Given the description of an element on the screen output the (x, y) to click on. 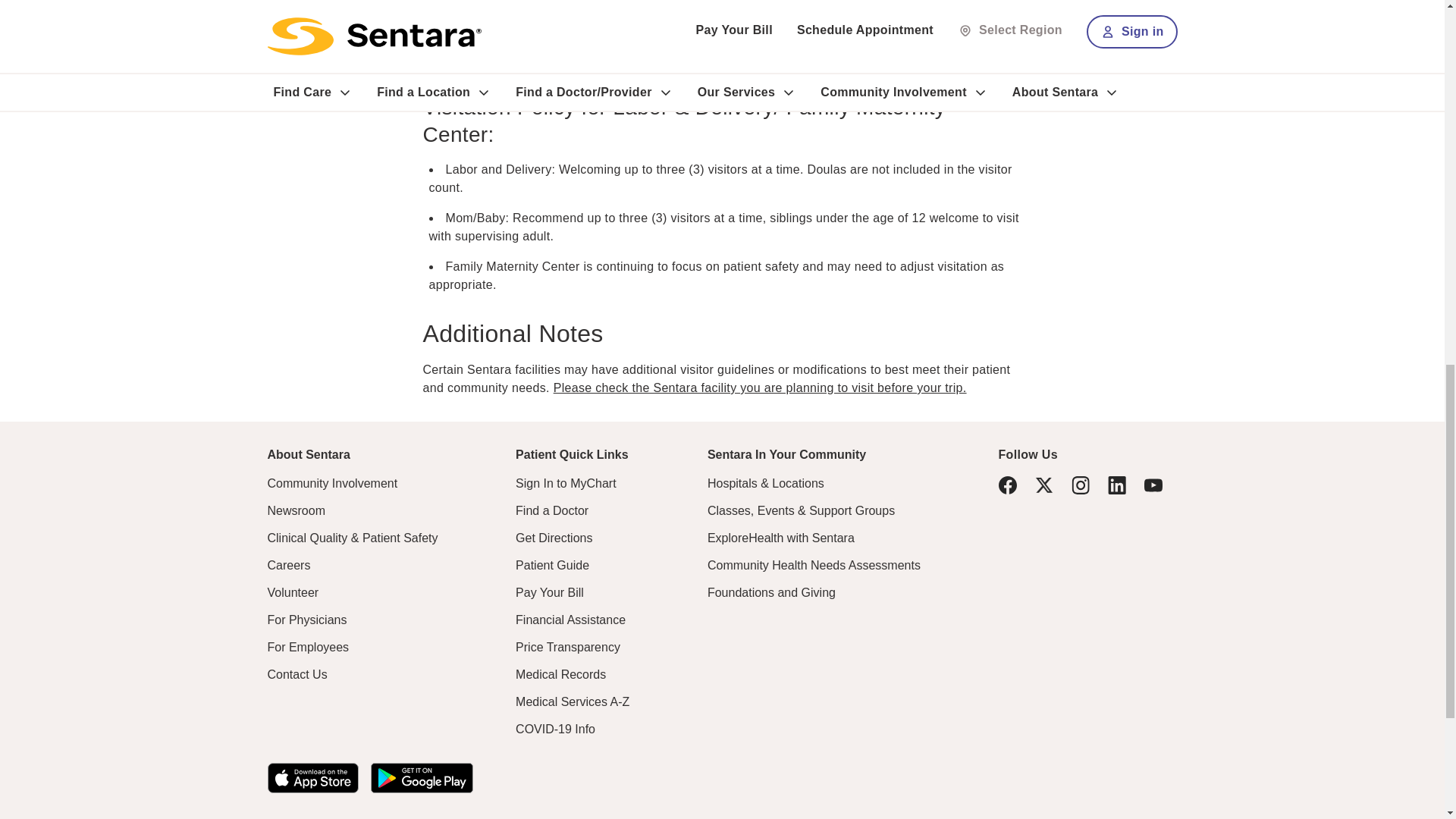
Download the Sentara Android App on Google Play (420, 777)
Instagram (1079, 484)
YouTube (1151, 485)
Facebook (1006, 484)
Download the Sentara App on the App Store (312, 777)
LinkedIn (1115, 484)
Twitter (1042, 484)
